Given the description of an element on the screen output the (x, y) to click on. 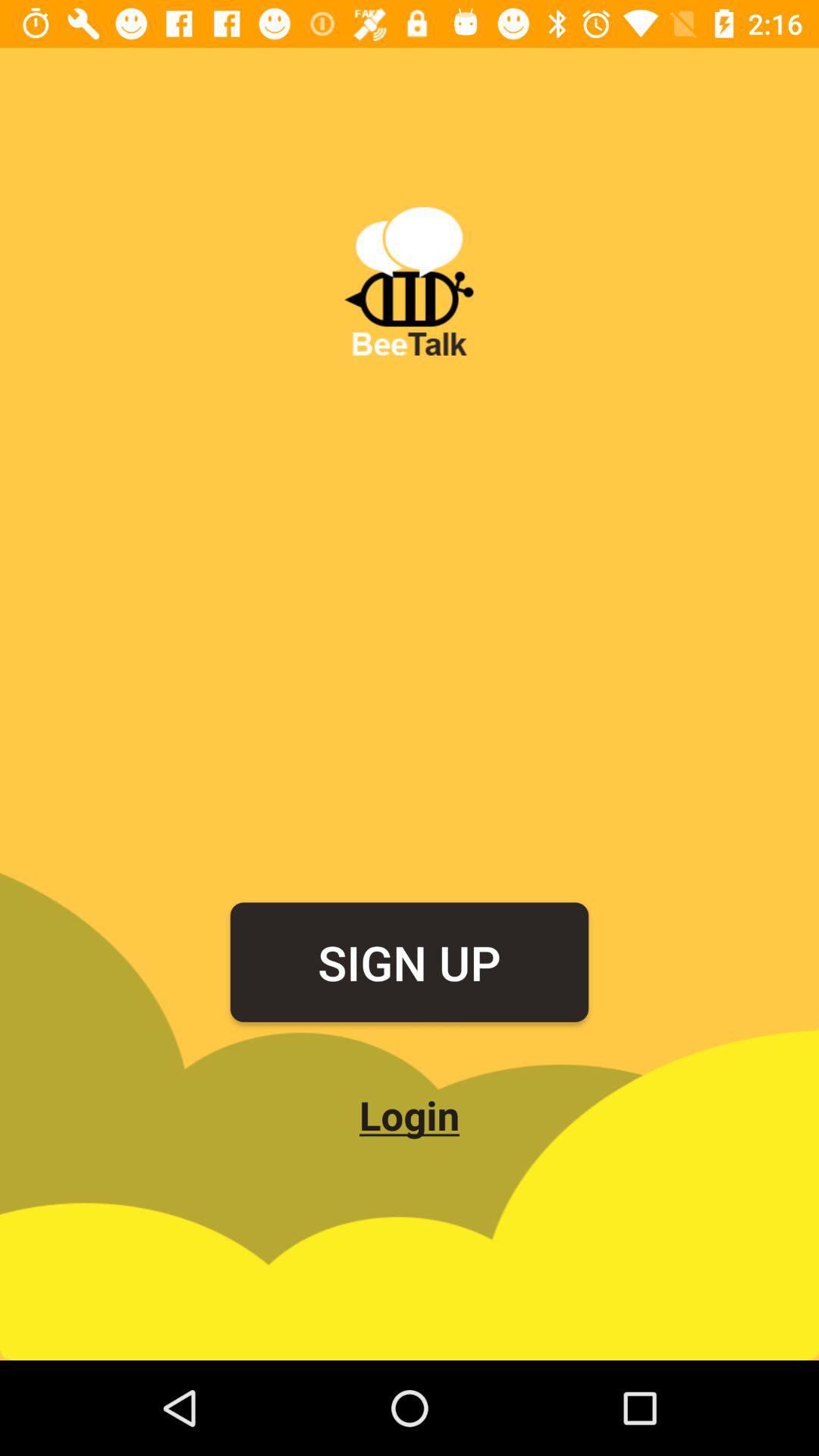
choose the login item (409, 1114)
